Given the description of an element on the screen output the (x, y) to click on. 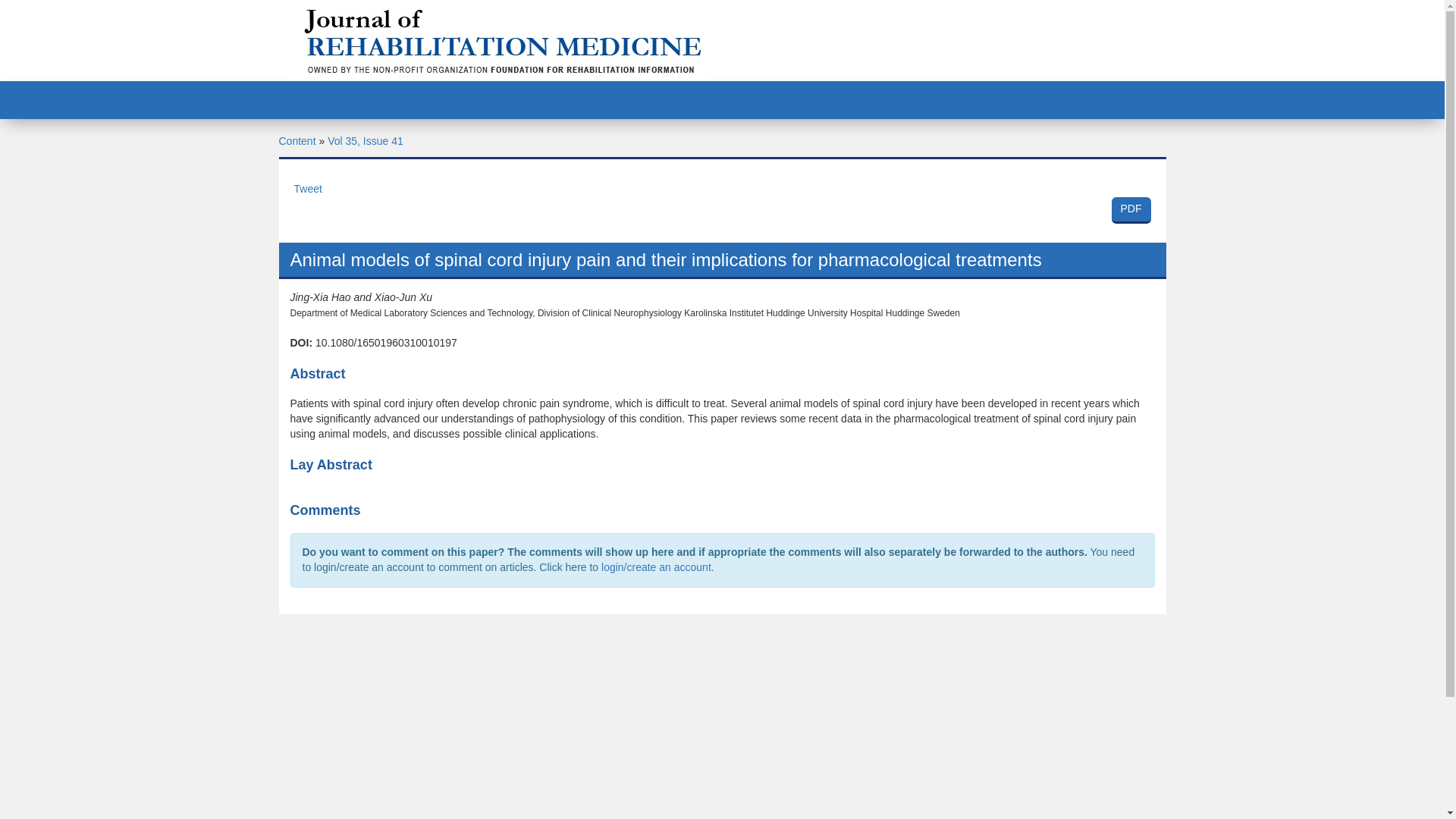
Vol 35, Issue 41 (365, 141)
PDF (1131, 210)
Tweet (307, 188)
Content (297, 141)
